Given the description of an element on the screen output the (x, y) to click on. 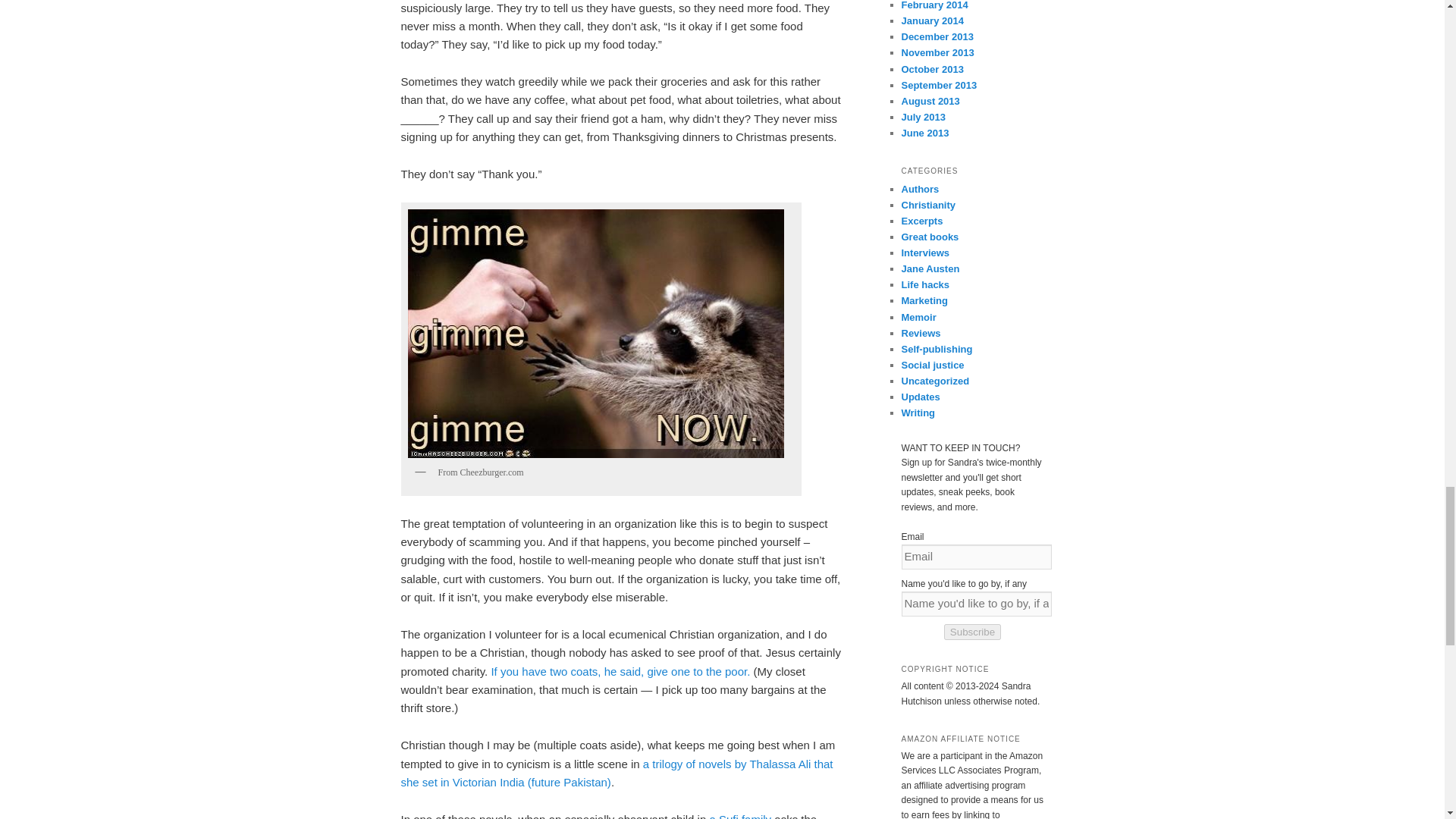
Luke 3:11 (619, 671)
gimme gimme gimme NOW. (595, 333)
Thalassa Ali Amazon link (616, 772)
